Given the description of an element on the screen output the (x, y) to click on. 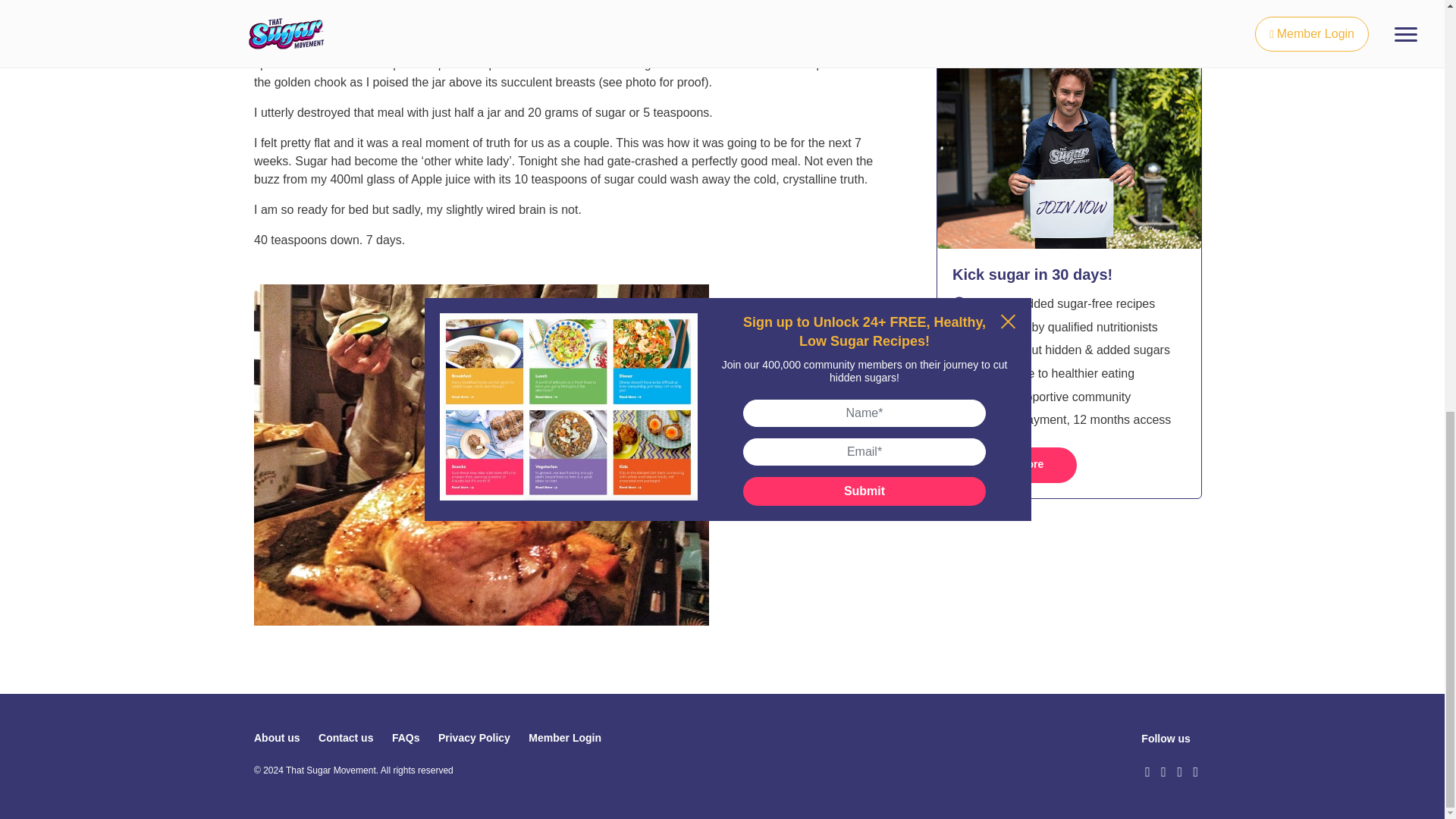
Member Login (564, 737)
About us (276, 737)
Contact us (345, 737)
Privacy Policy (474, 737)
FAQs (405, 737)
